Given the description of an element on the screen output the (x, y) to click on. 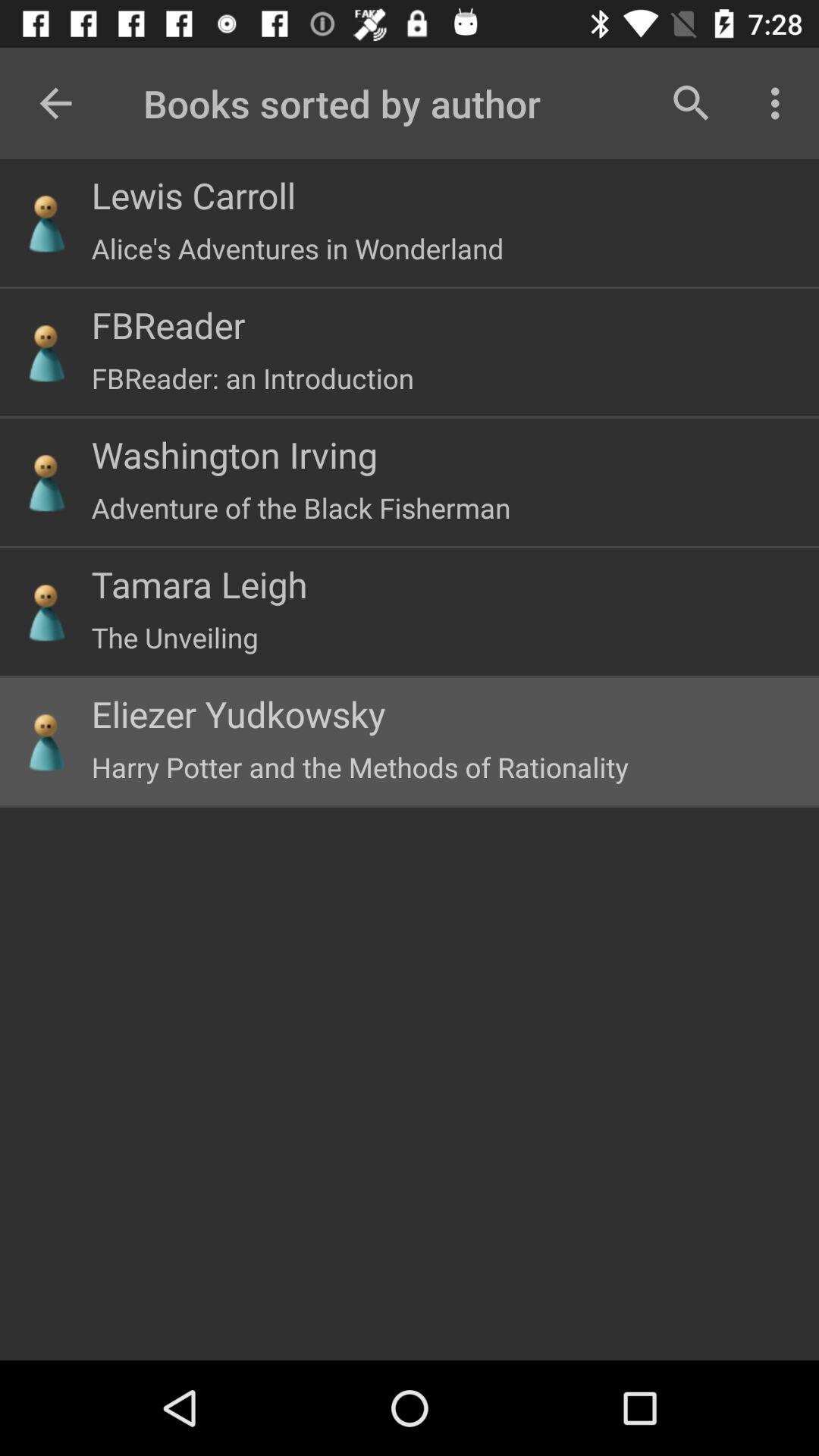
open icon above the harry potter and icon (238, 713)
